Given the description of an element on the screen output the (x, y) to click on. 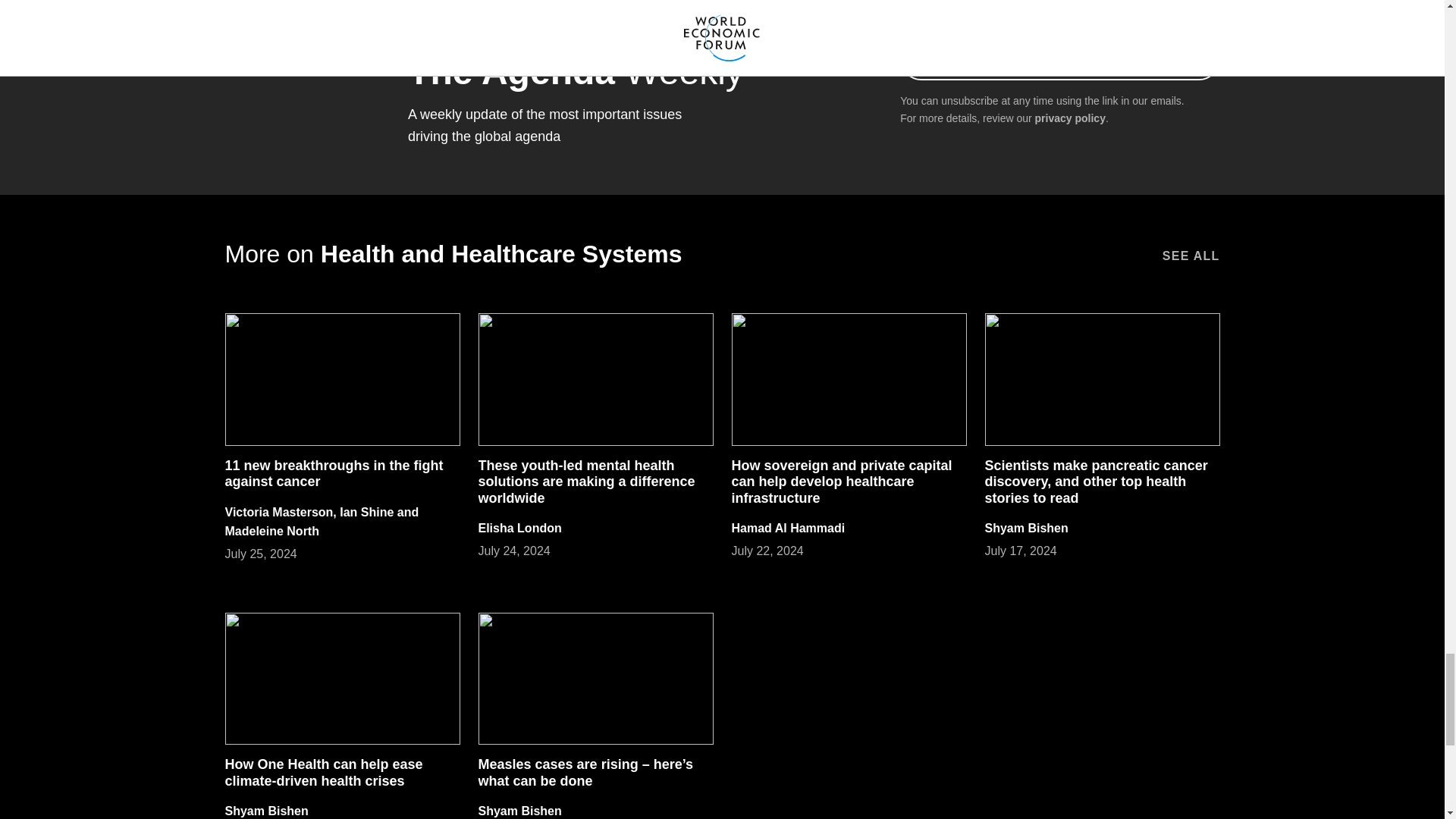
Subscribe today (1059, 58)
privacy policy (1070, 118)
